Given the description of an element on the screen output the (x, y) to click on. 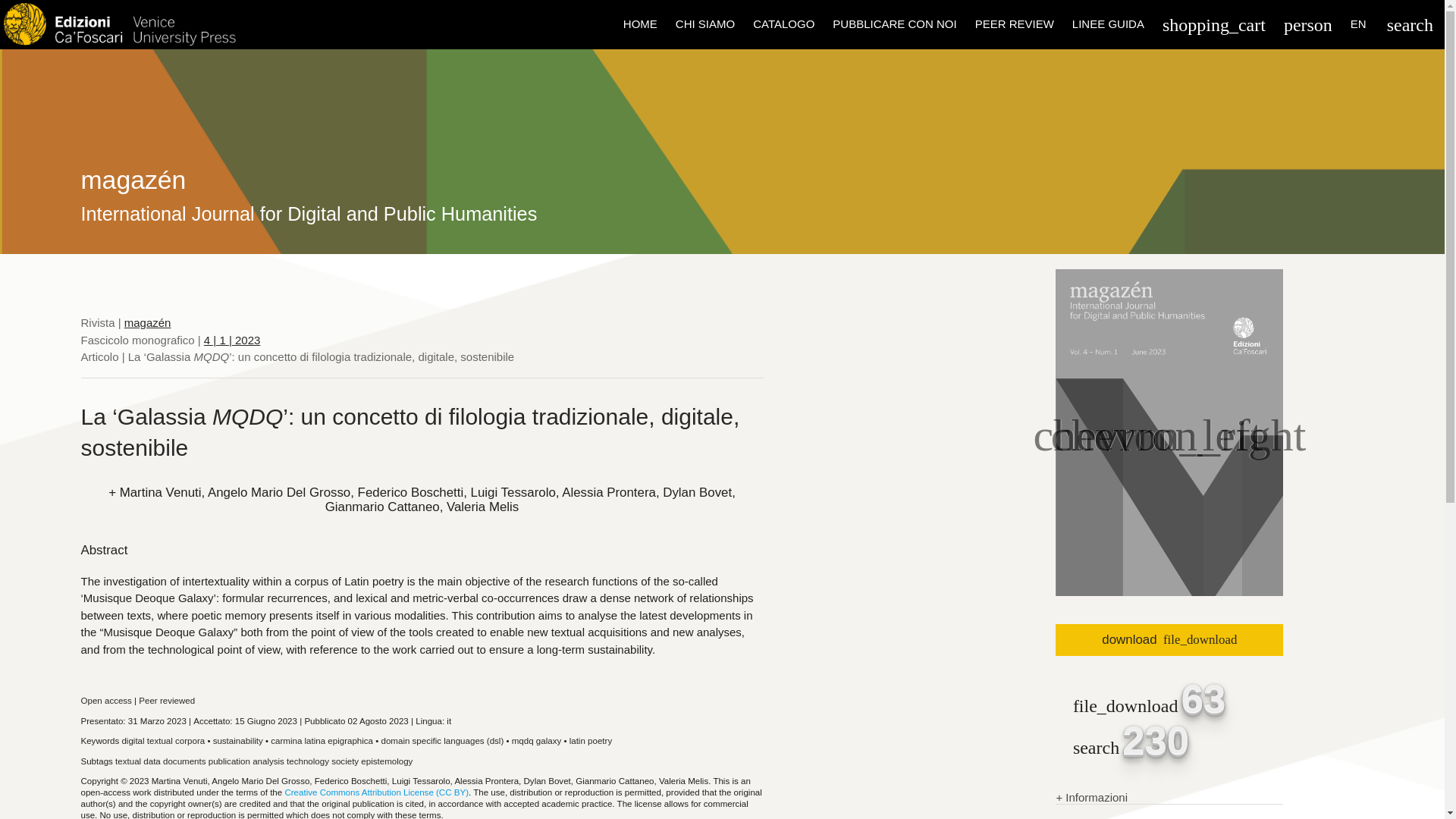
LINEE GUIDA (1107, 24)
Open access (105, 700)
latin poetry (590, 740)
analysis (267, 760)
digital textual corpora (162, 740)
PEER REVIEW (1014, 24)
textual data (137, 760)
Peer reviewed (166, 700)
sustainability (237, 740)
EN (1357, 24)
person (1307, 24)
publication (229, 760)
society (344, 760)
mqdq galaxy (536, 740)
search (1409, 24)
